Given the description of an element on the screen output the (x, y) to click on. 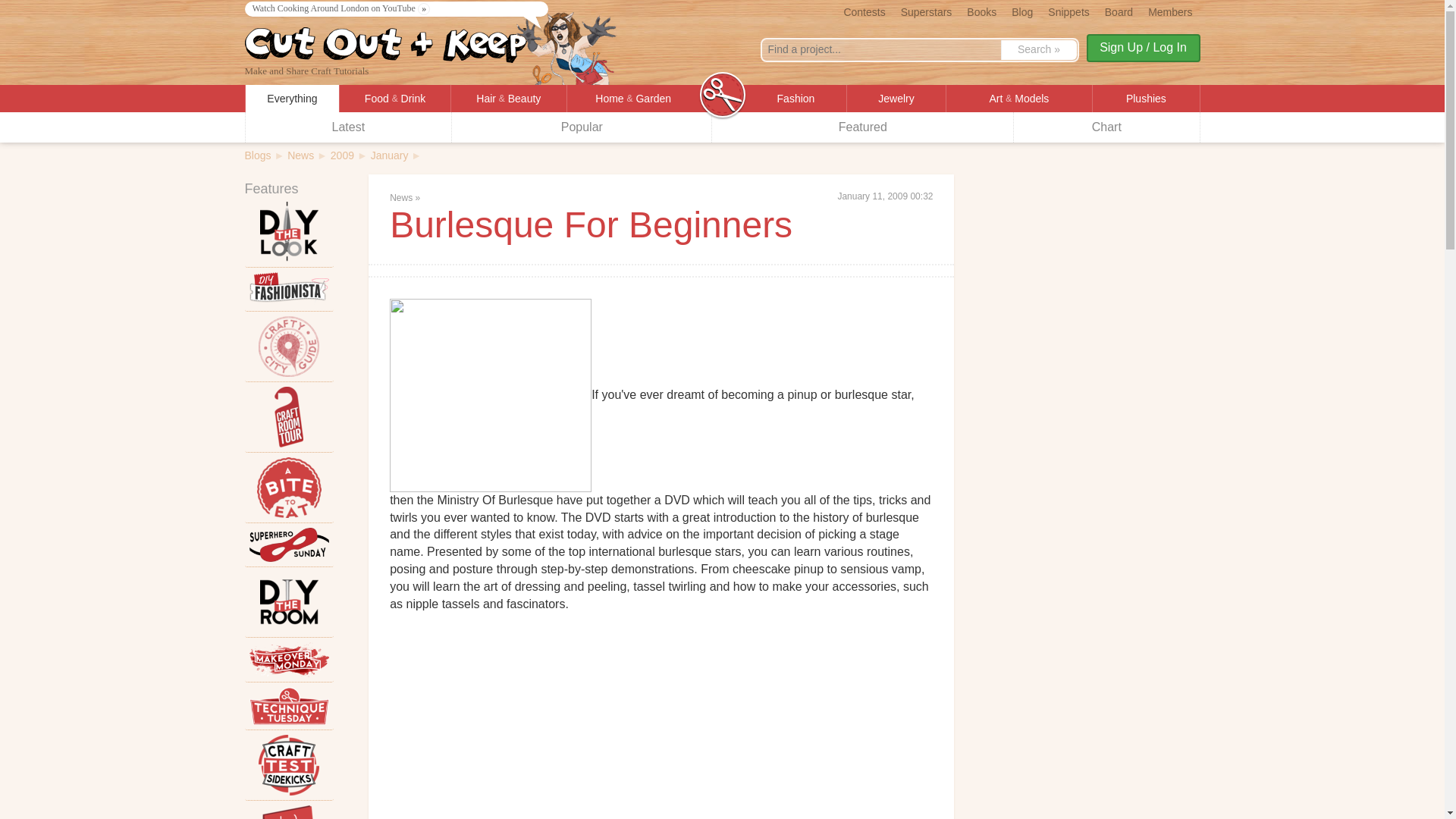
Blog (1022, 10)
Books (981, 10)
Everything (292, 98)
Superstars (926, 10)
Board (1118, 10)
Members (1169, 10)
Snippets (1068, 10)
Contests (863, 10)
